Given the description of an element on the screen output the (x, y) to click on. 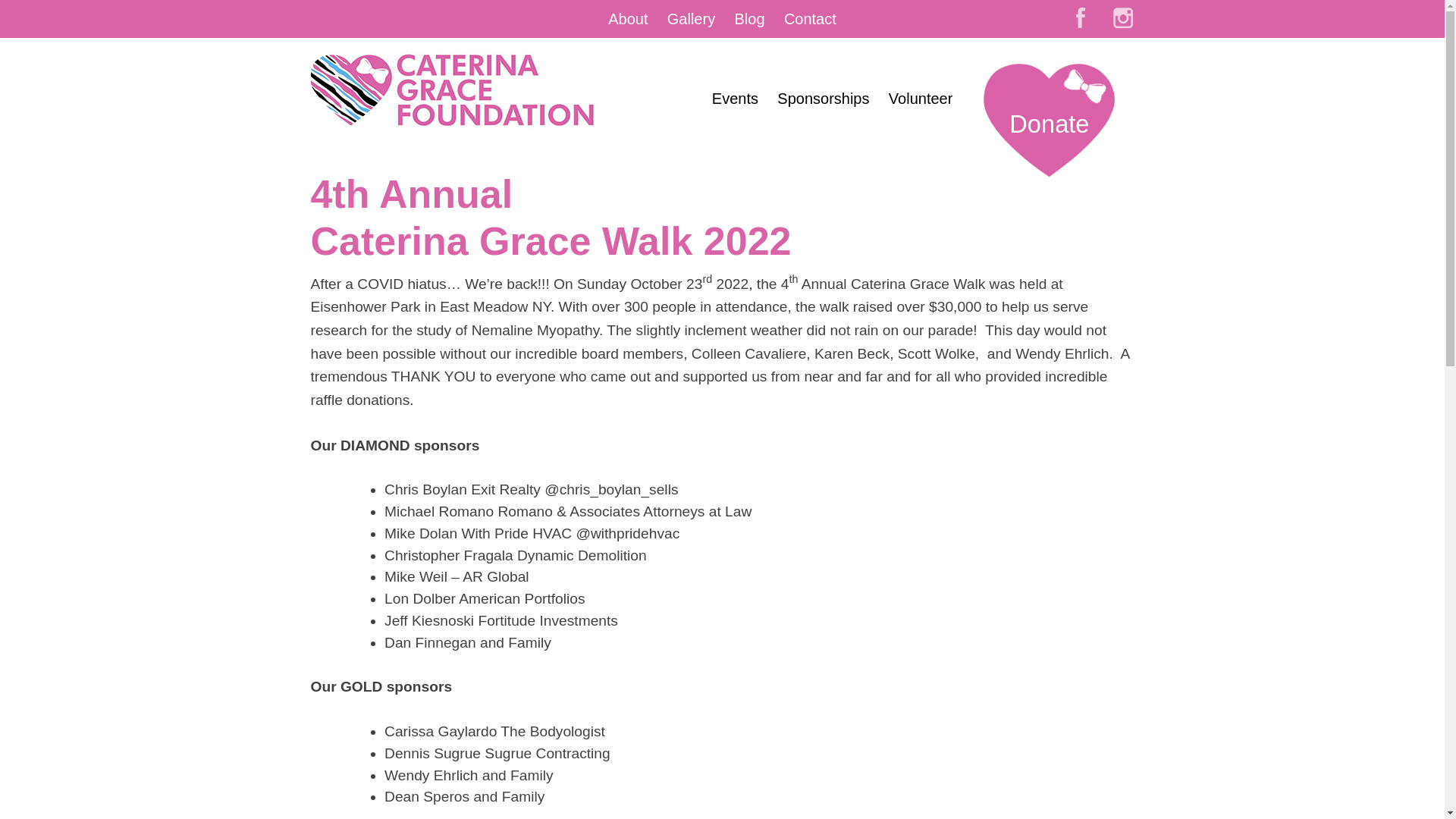
Events (734, 97)
Donate (1058, 133)
About (627, 18)
Volunteer (920, 97)
Blog (748, 18)
Contact (809, 18)
Gallery (690, 18)
Sponsorships (823, 97)
